Given the description of an element on the screen output the (x, y) to click on. 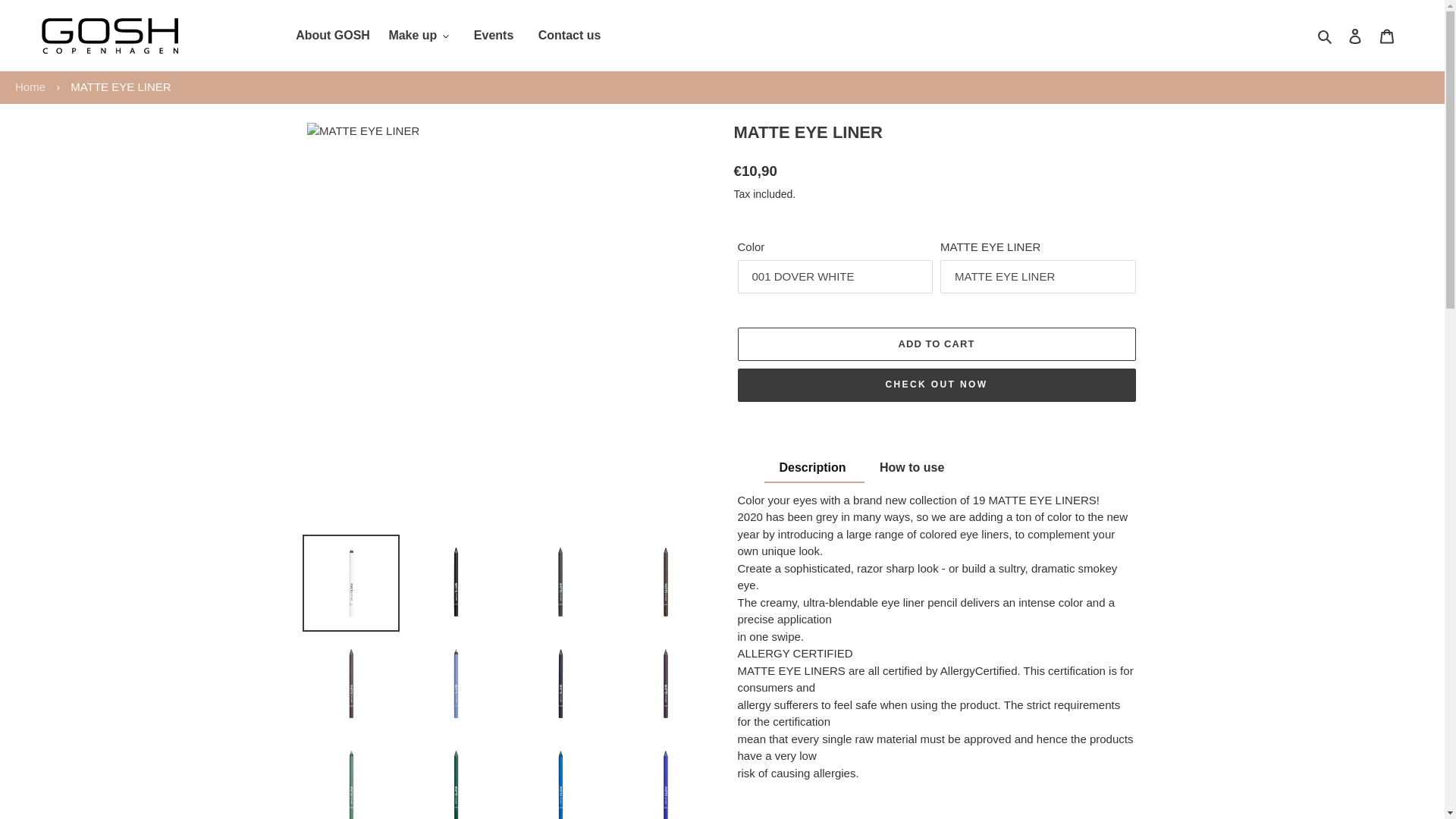
Home (29, 86)
Make up (418, 35)
About GOSH (332, 35)
